Given the description of an element on the screen output the (x, y) to click on. 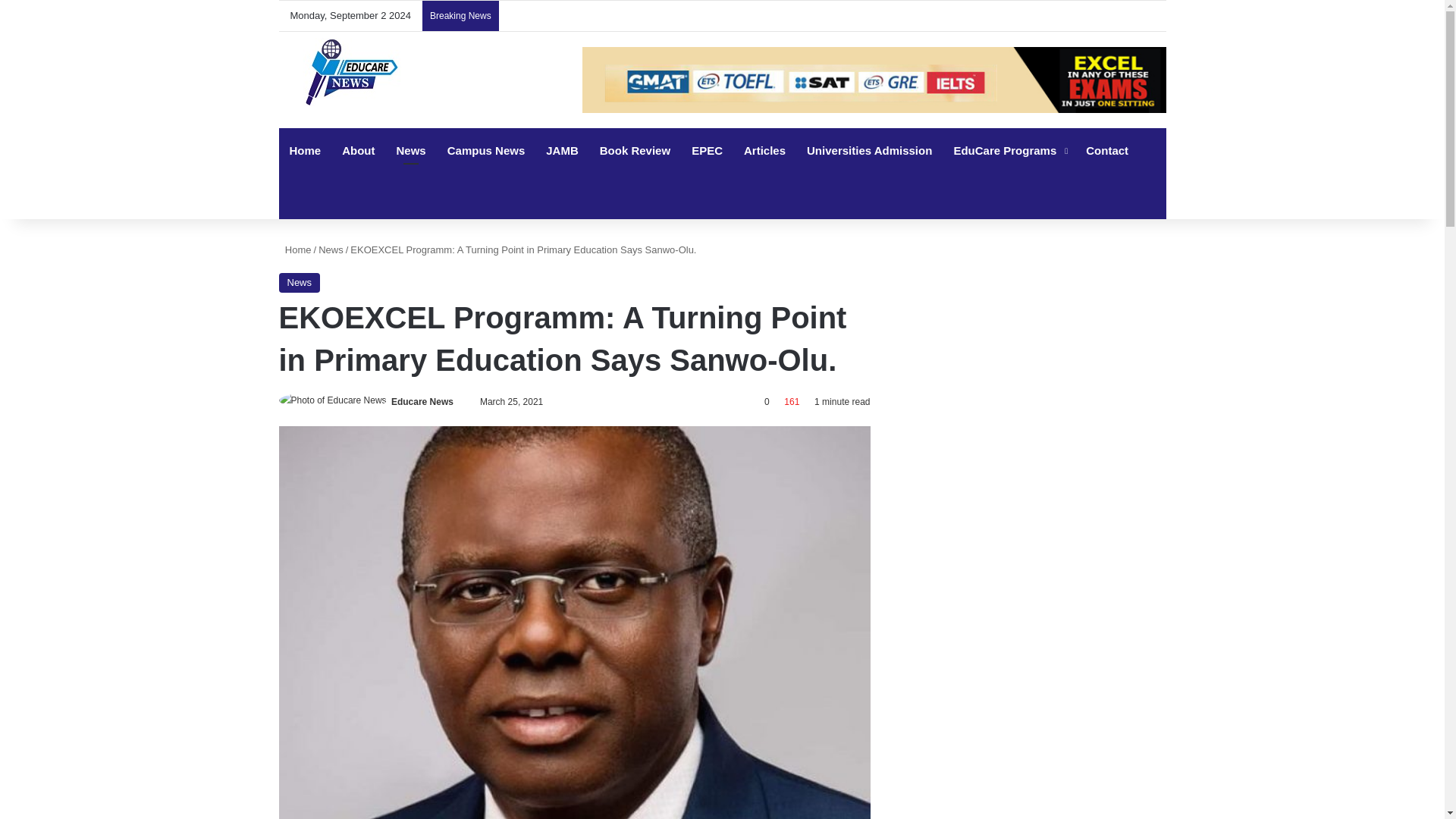
Contact (1106, 150)
Universities Admission (869, 150)
EDUCARE NEWS (352, 71)
Articles (764, 150)
Campus News (485, 150)
News (330, 249)
JAMB (562, 150)
News (410, 150)
Book Review (635, 150)
EduCare Programs (1008, 150)
